Given the description of an element on the screen output the (x, y) to click on. 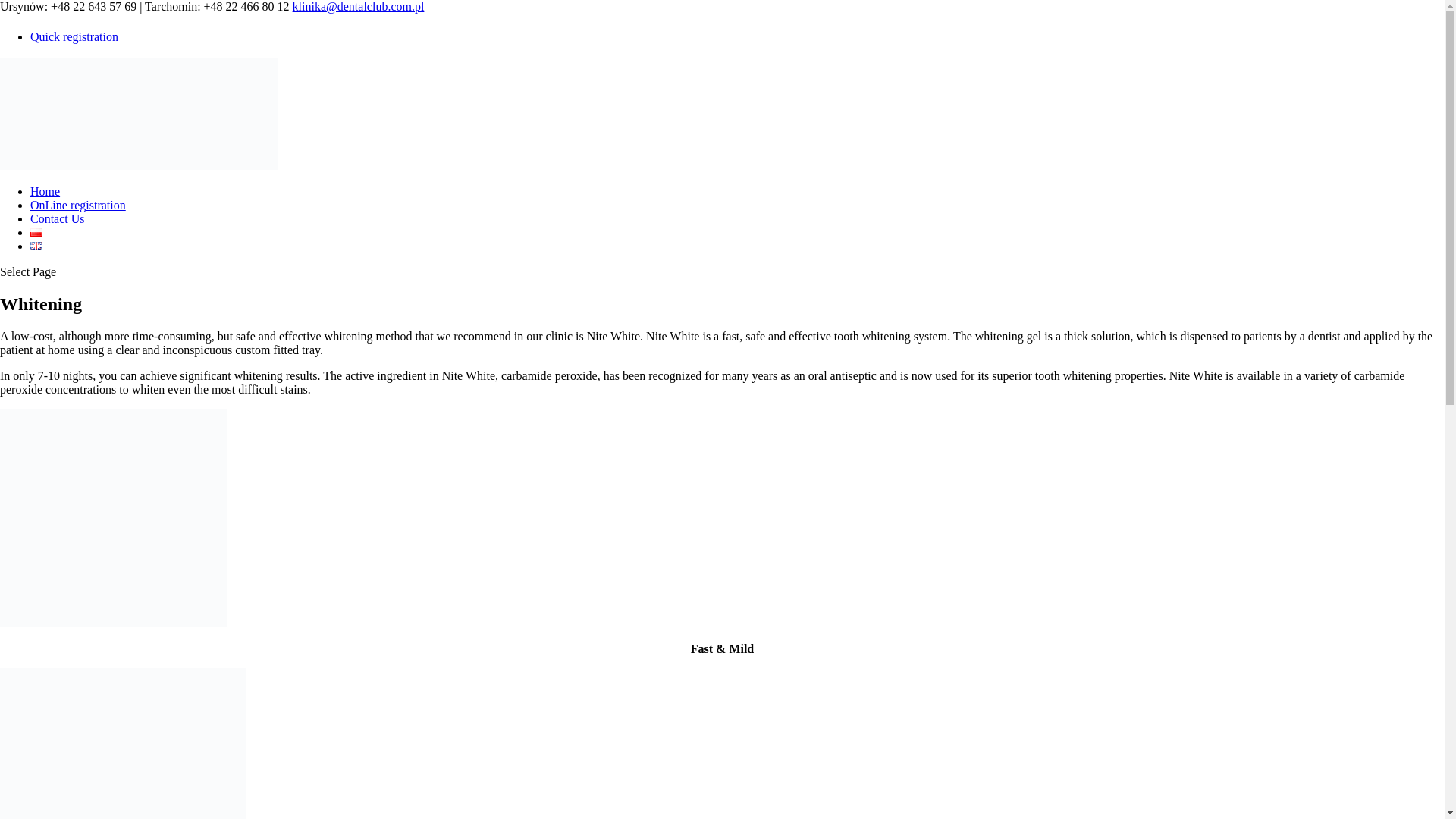
Quick registration (73, 36)
Home (44, 191)
Contact Us (57, 218)
OnLine registration (77, 205)
